Given the description of an element on the screen output the (x, y) to click on. 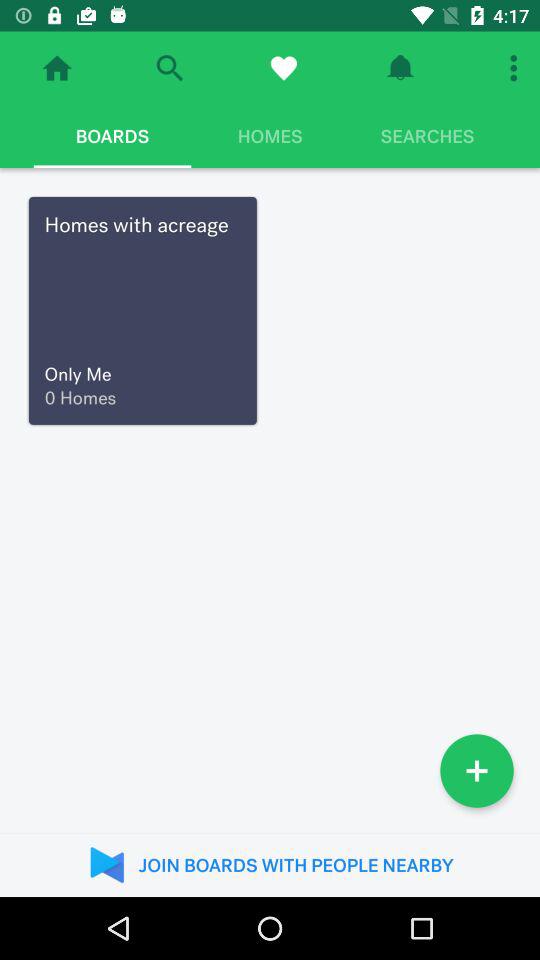
view notifications (400, 68)
